Given the description of an element on the screen output the (x, y) to click on. 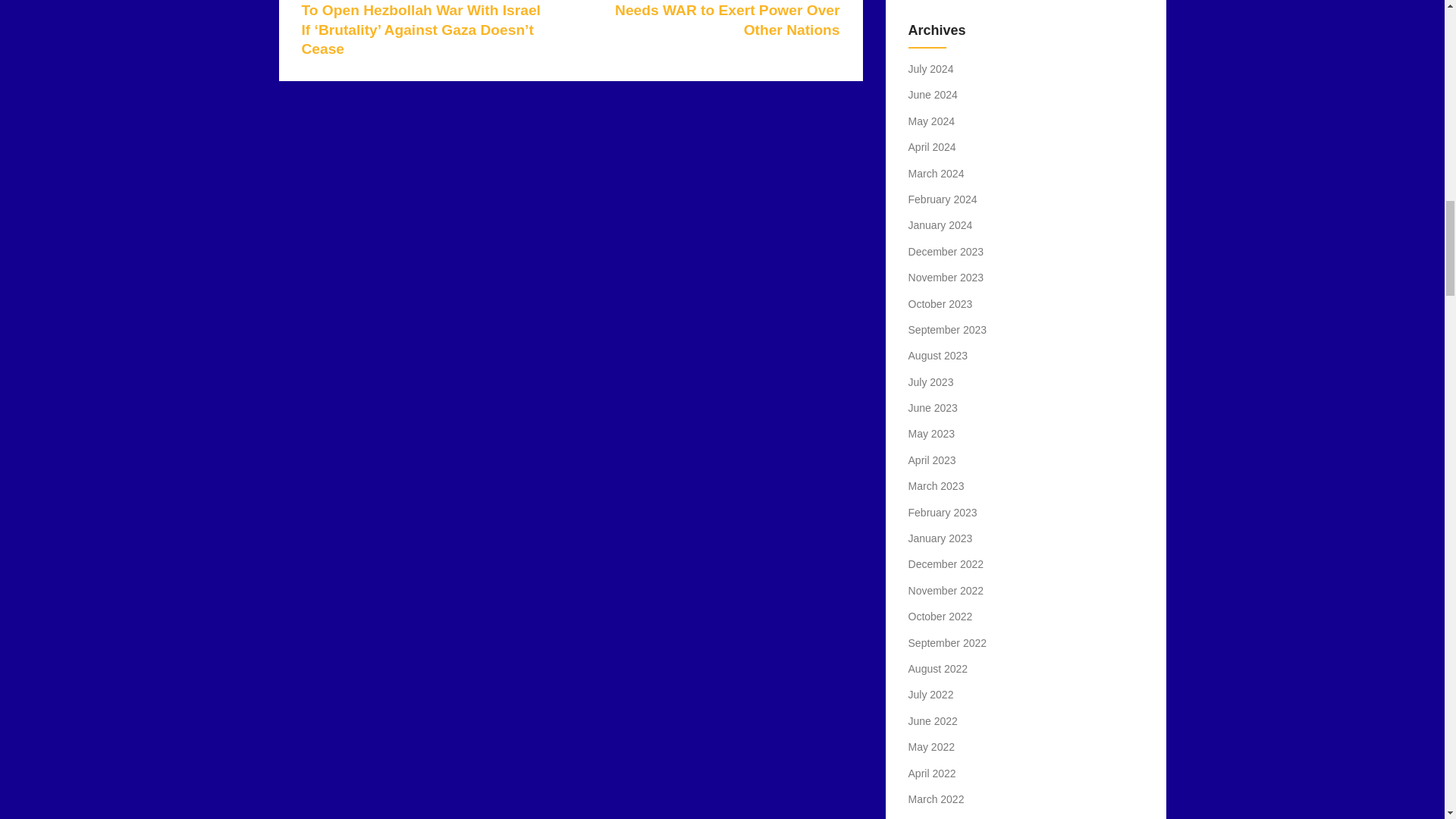
July 2024 (930, 69)
June 2024 (933, 94)
April 2024 (932, 146)
May 2024 (931, 121)
